Given the description of an element on the screen output the (x, y) to click on. 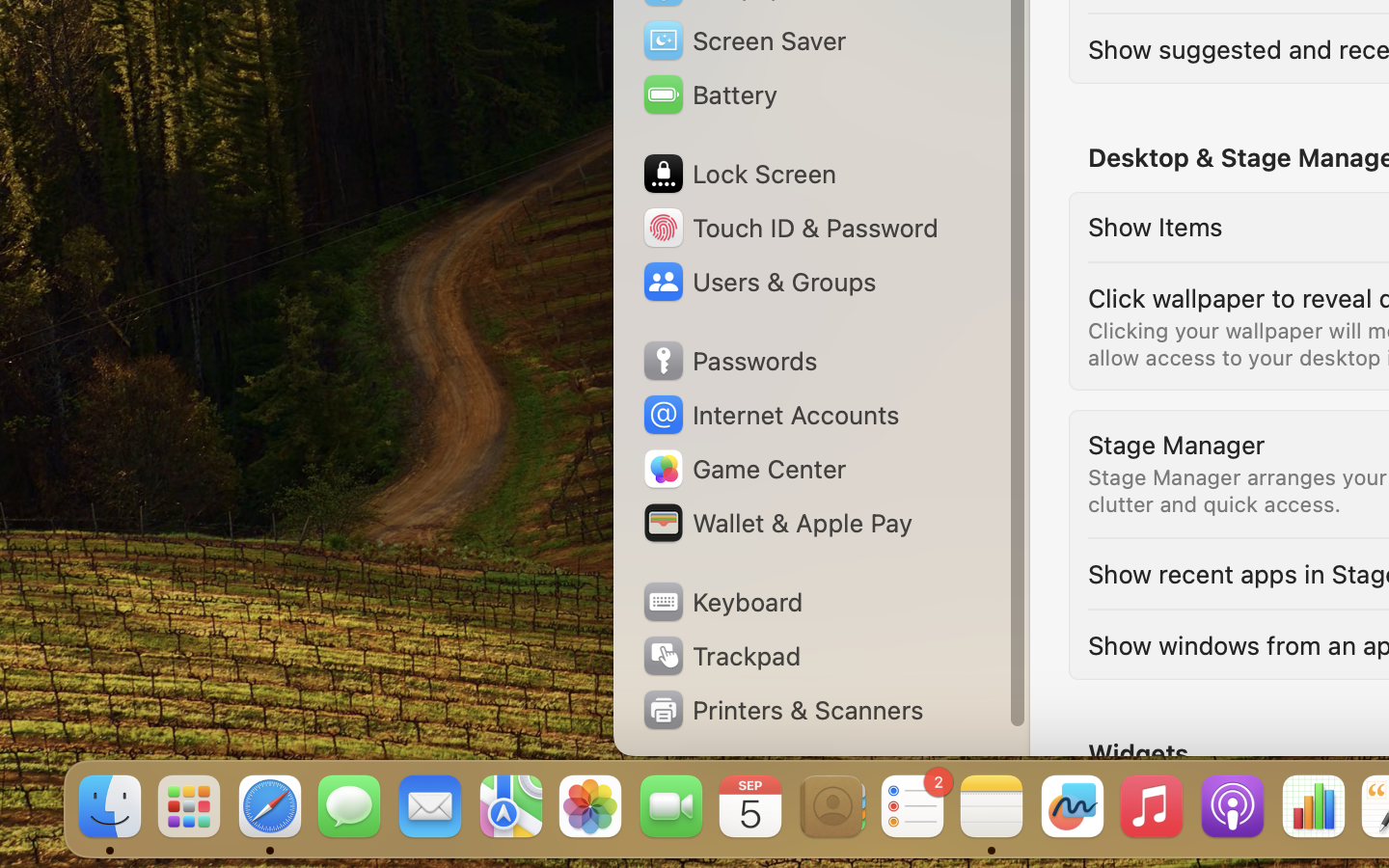
Internet Accounts Element type: AXStaticText (769, 414)
Printers & Scanners Element type: AXStaticText (782, 709)
Users & Groups Element type: AXStaticText (757, 281)
Wallet & Apple Pay Element type: AXStaticText (776, 522)
Passwords Element type: AXStaticText (728, 360)
